Given the description of an element on the screen output the (x, y) to click on. 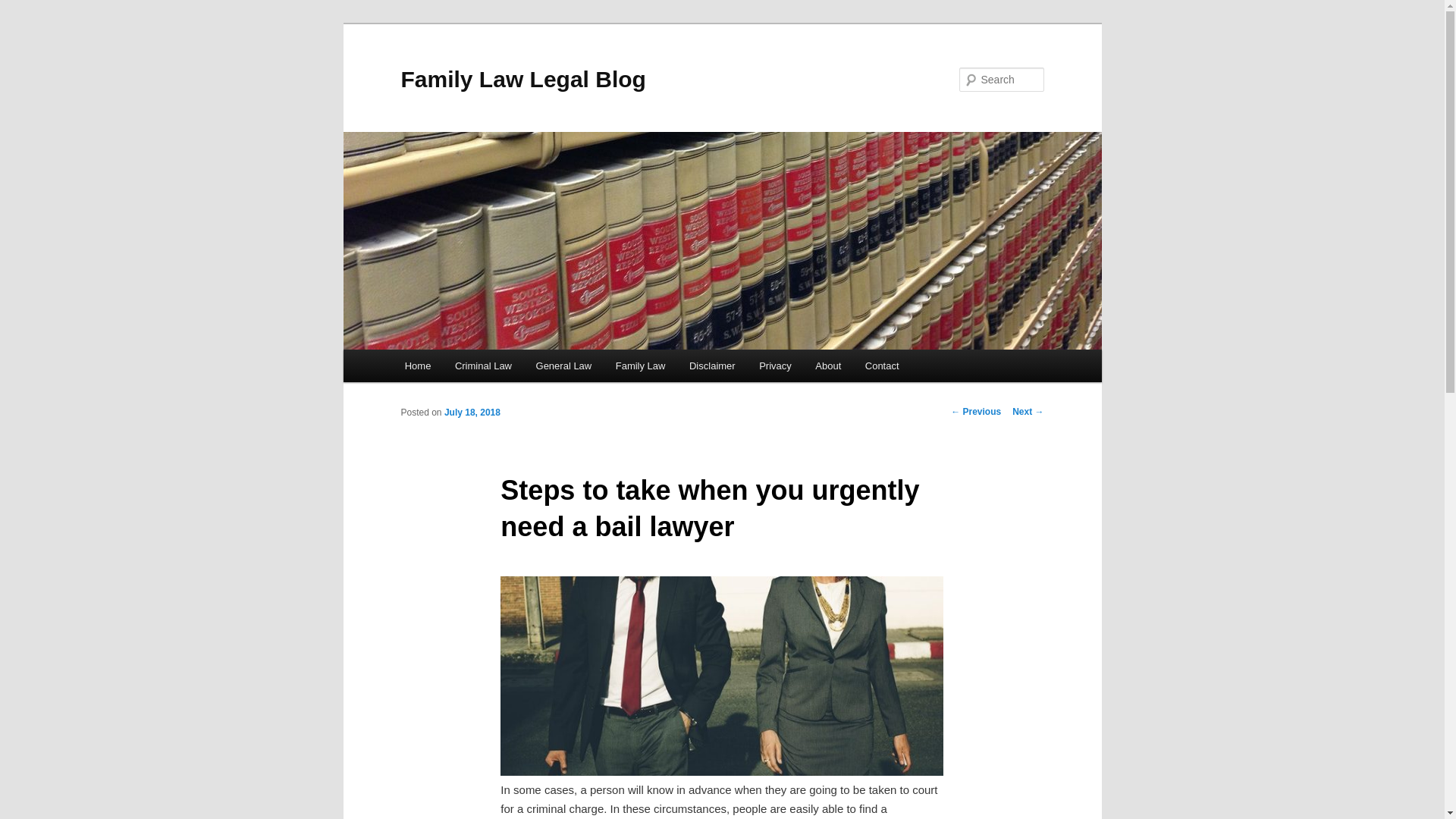
About Element type: text (828, 365)
Search Element type: text (24, 8)
Home Element type: text (417, 365)
Skip to primary content Element type: text (22, 22)
General Law Element type: text (563, 365)
Contact Element type: text (881, 365)
July 18, 2018 Element type: text (472, 412)
Family Law Legal Blog Element type: text (522, 78)
Privacy Element type: text (774, 365)
Family Law Element type: text (640, 365)
Disclaimer Element type: text (711, 365)
Criminal Law Element type: text (483, 365)
